Given the description of an element on the screen output the (x, y) to click on. 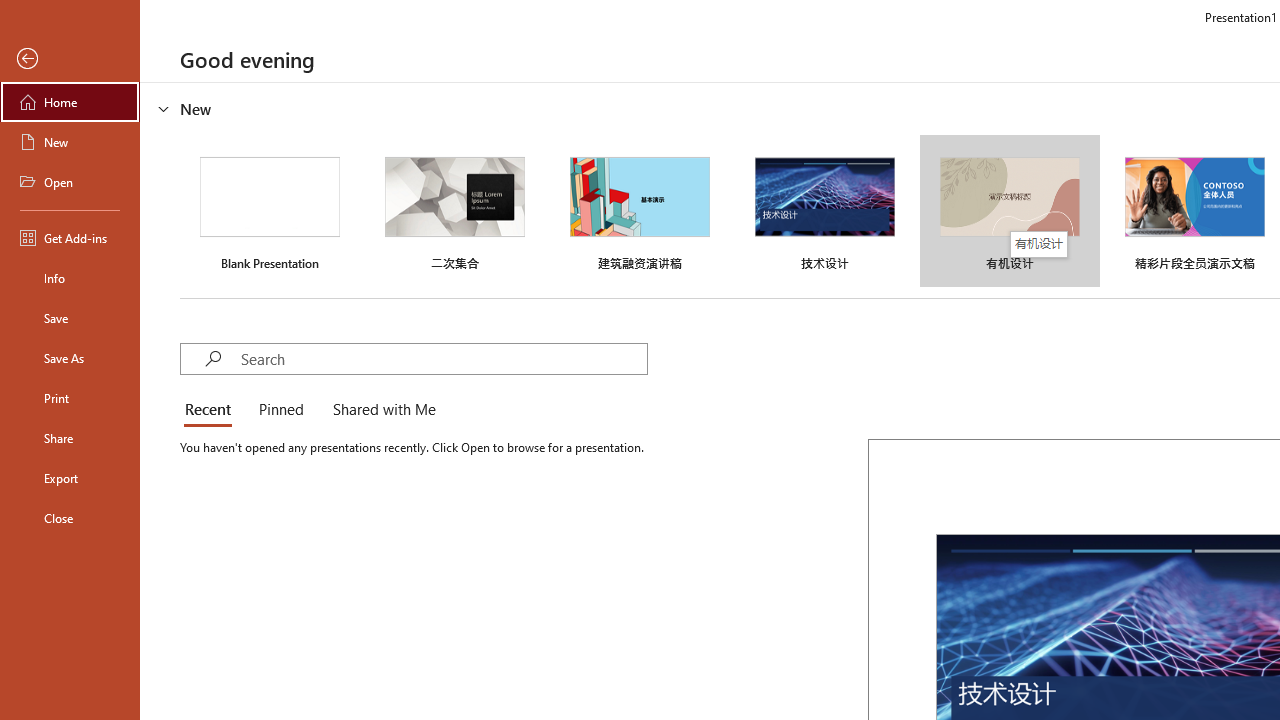
Back (69, 59)
Info (69, 277)
Print (69, 398)
